Given the description of an element on the screen output the (x, y) to click on. 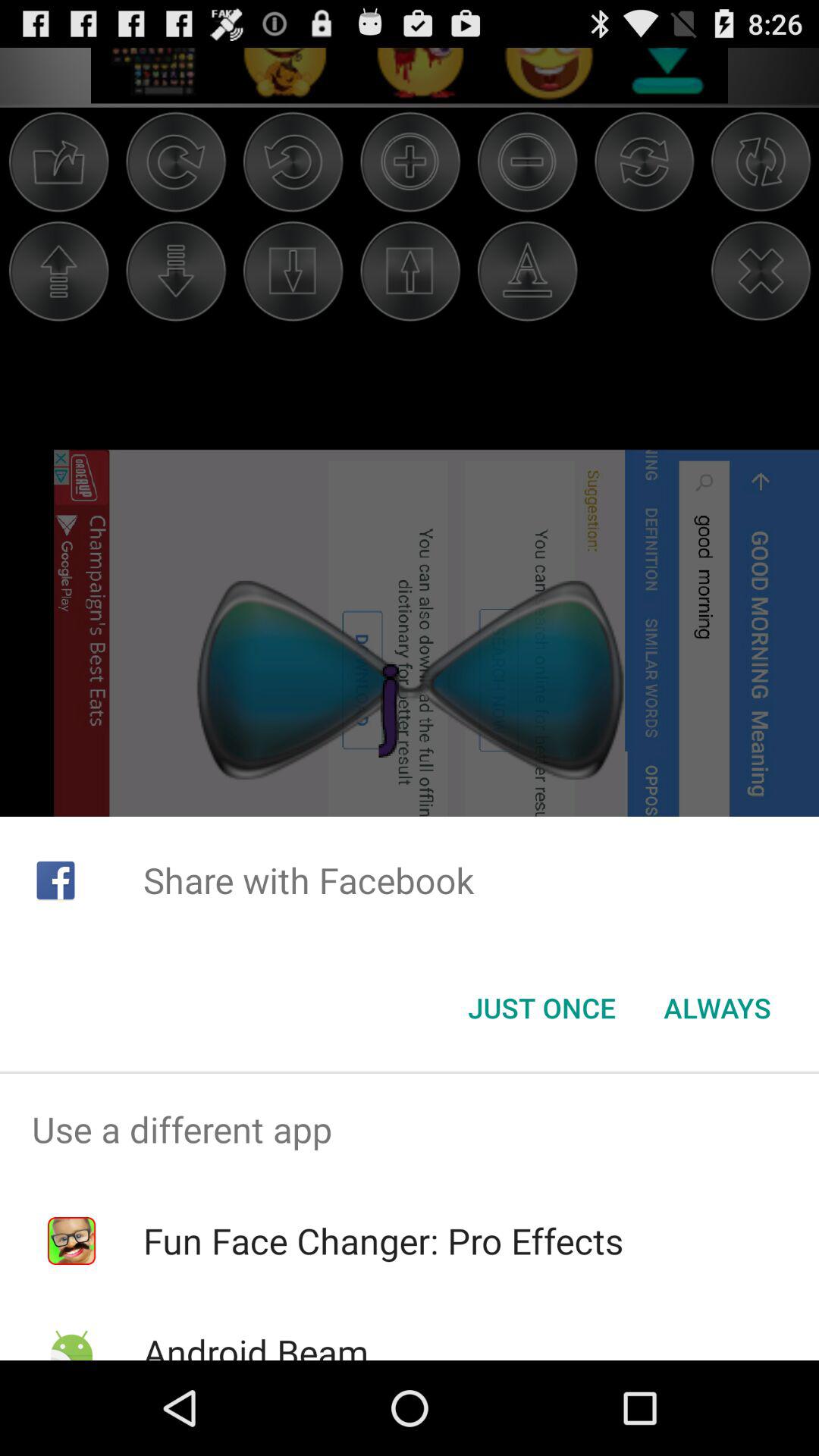
turn off the icon below the fun face changer app (255, 1344)
